Given the description of an element on the screen output the (x, y) to click on. 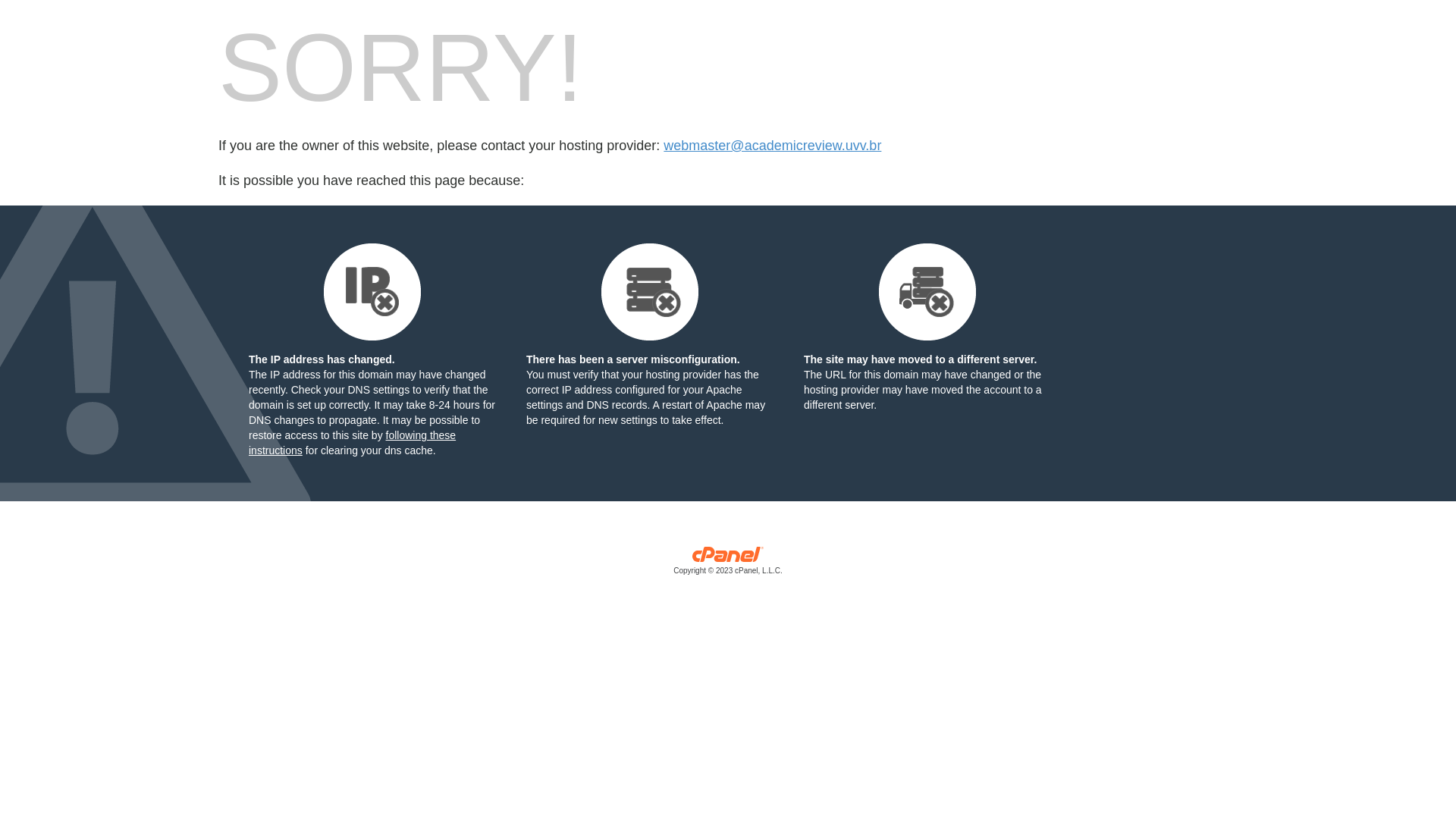
following these instructions Element type: text (351, 442)
webmaster@academicreview.uvv.br Element type: text (772, 145)
